Given the description of an element on the screen output the (x, y) to click on. 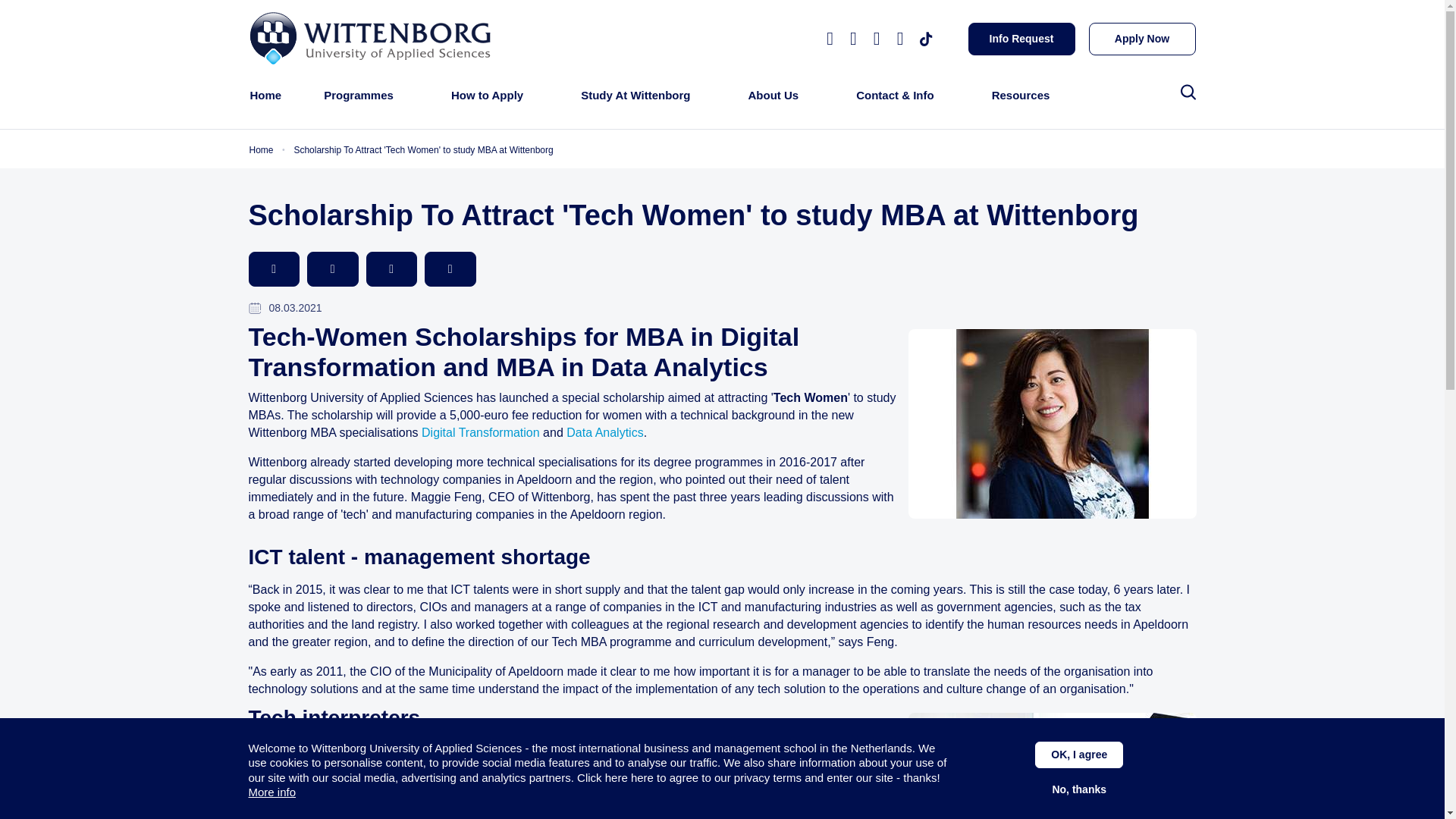
Home (371, 38)
Apply Now (1142, 38)
Home (266, 95)
Info Request (1021, 38)
